Given the description of an element on the screen output the (x, y) to click on. 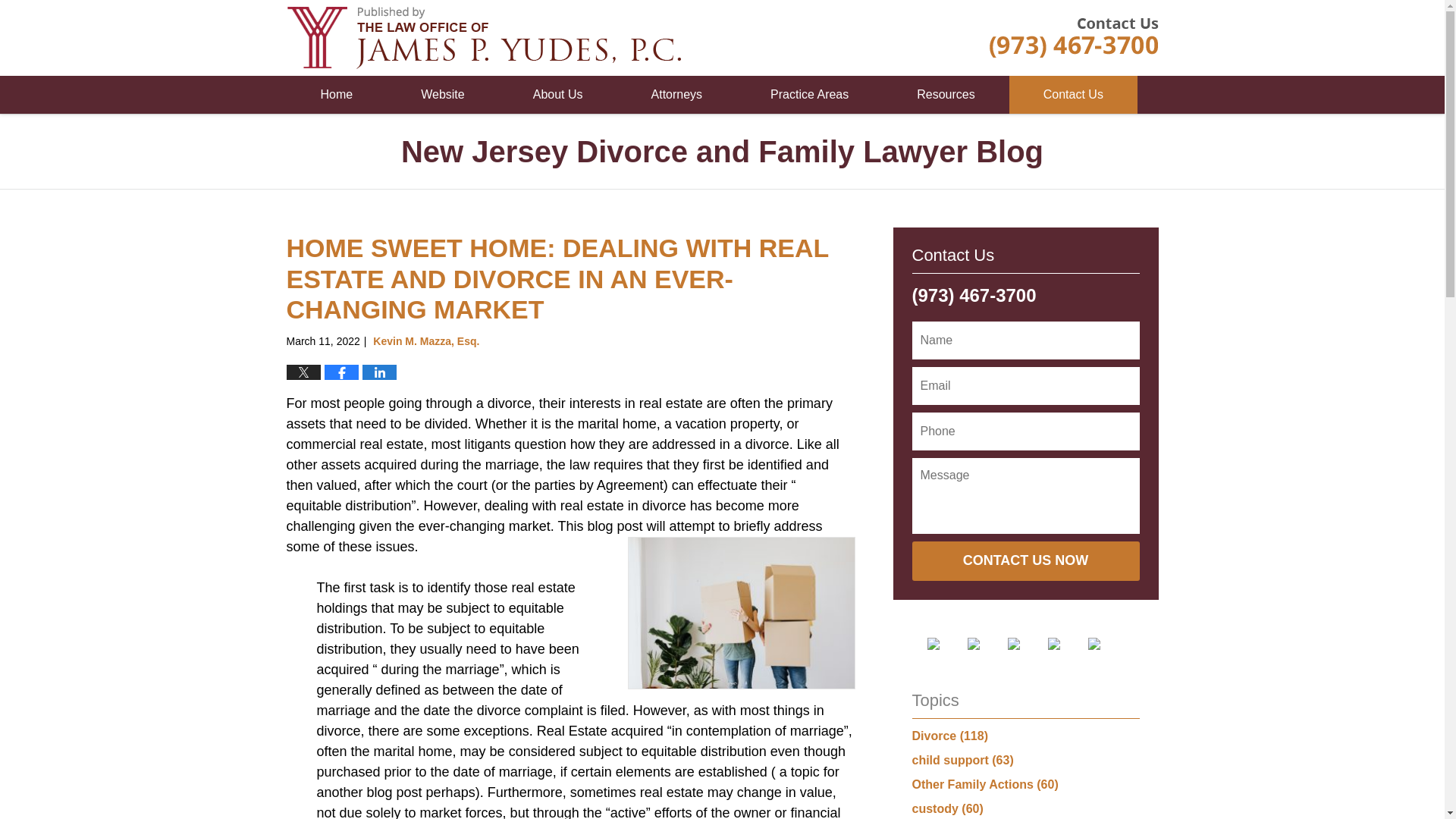
Twitter (986, 644)
Feed (1105, 644)
Home (336, 94)
Please enter a valid phone number. (1024, 431)
Facebook (944, 644)
New Jersey Divorce and Family Lawyer Blog (483, 37)
Website (443, 94)
About Us (558, 94)
Practice Areas (809, 94)
Published By The Law Office of James P. Yudes, P.C. (1072, 37)
